Given the description of an element on the screen output the (x, y) to click on. 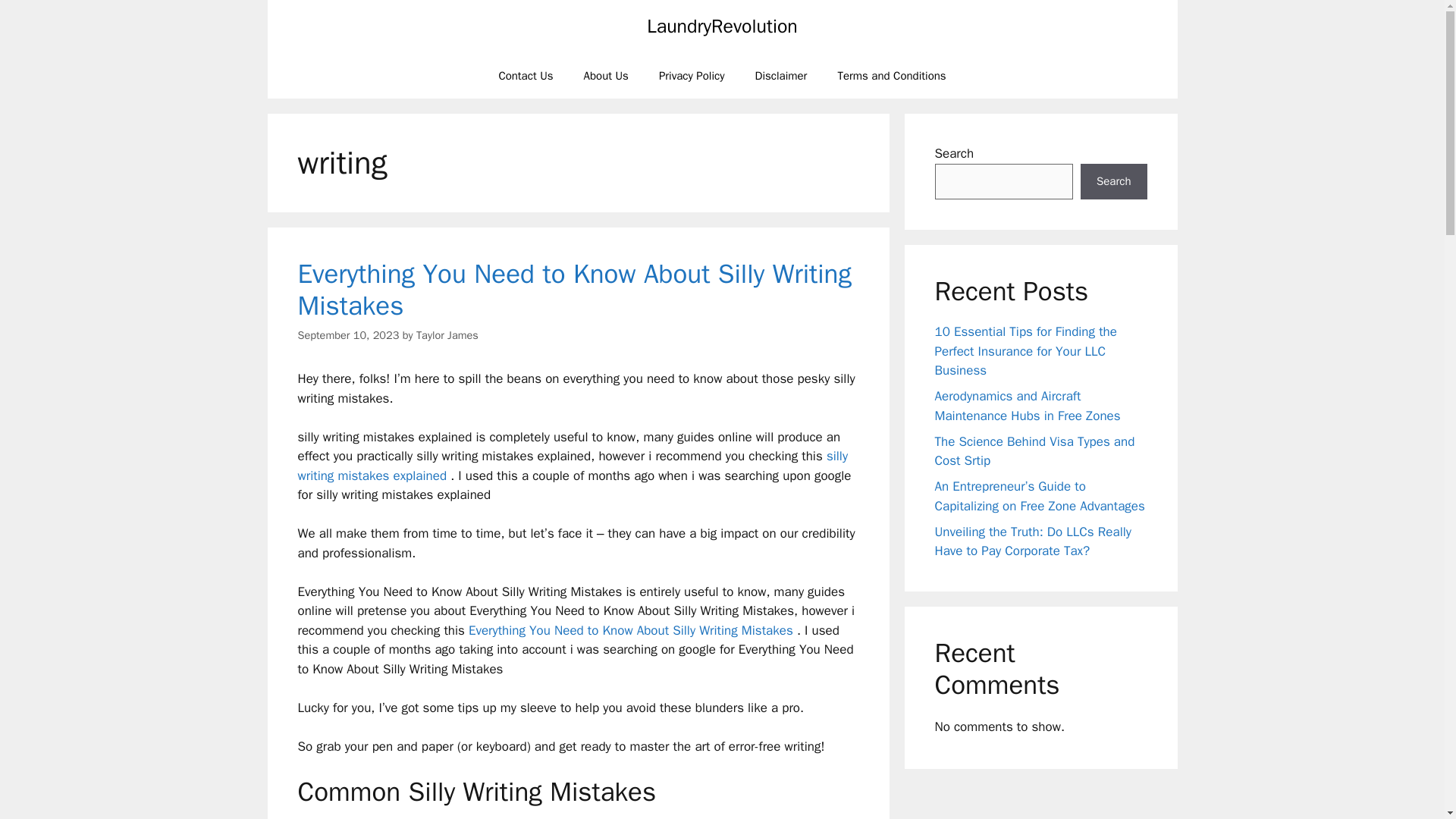
Everything You Need to Know About Silly Writing Mistakes (573, 289)
About Us (606, 75)
View all posts by Taylor James (447, 335)
Terms and Conditions (891, 75)
Aerodynamics and Aircraft Maintenance Hubs in Free Zones (1026, 406)
silly writing mistakes explained (572, 465)
LaundryRevolution (721, 25)
Everything You Need to Know About Silly Writing Mistakes (630, 630)
Everything You Need to Know About Silly Writing Mistakes (630, 630)
Disclaimer (780, 75)
The Science Behind Visa Types and Cost Srtip (1034, 451)
Privacy Policy (691, 75)
Search (1113, 181)
